Given the description of an element on the screen output the (x, y) to click on. 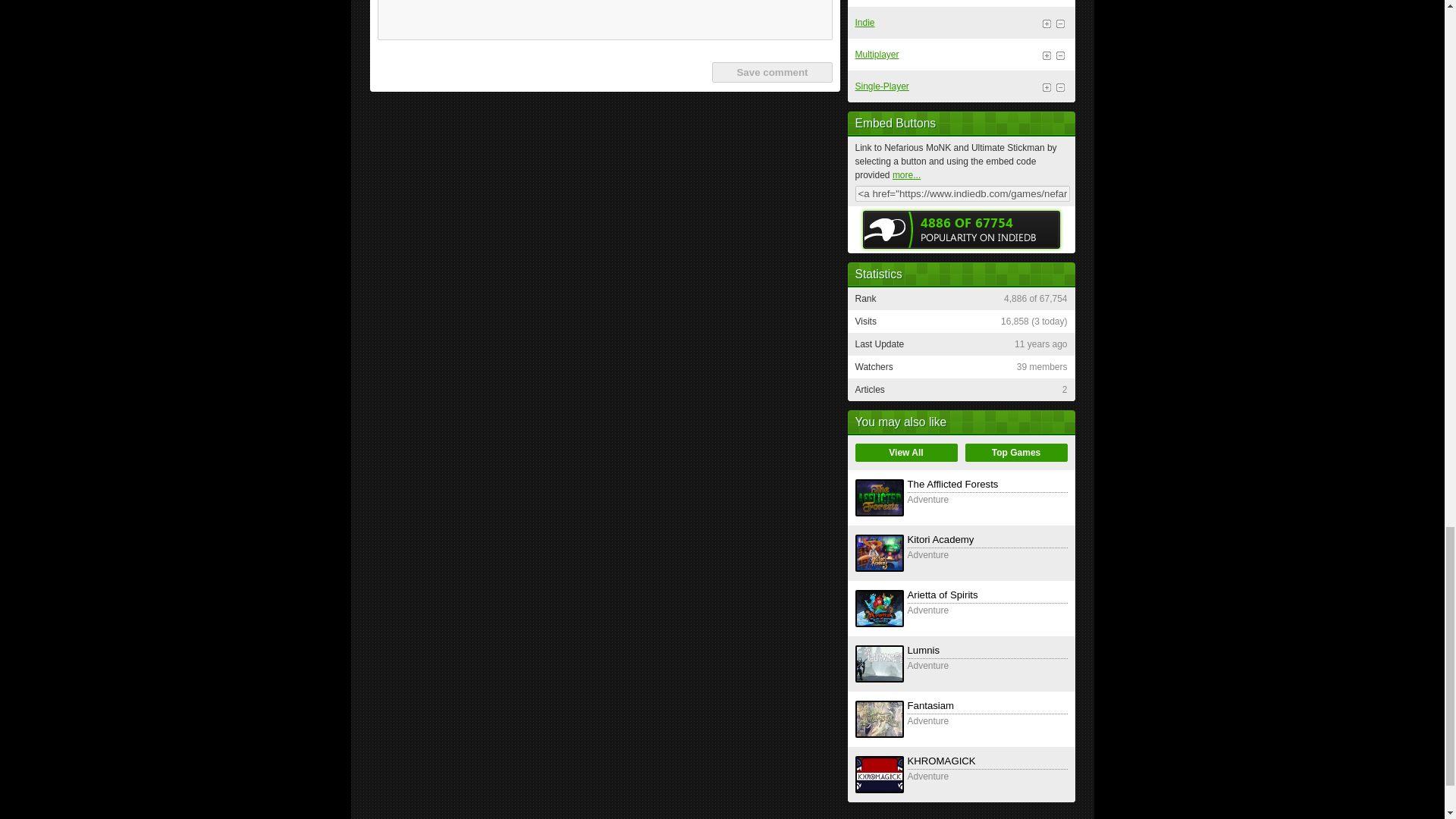
Save comment (771, 72)
